Given the description of an element on the screen output the (x, y) to click on. 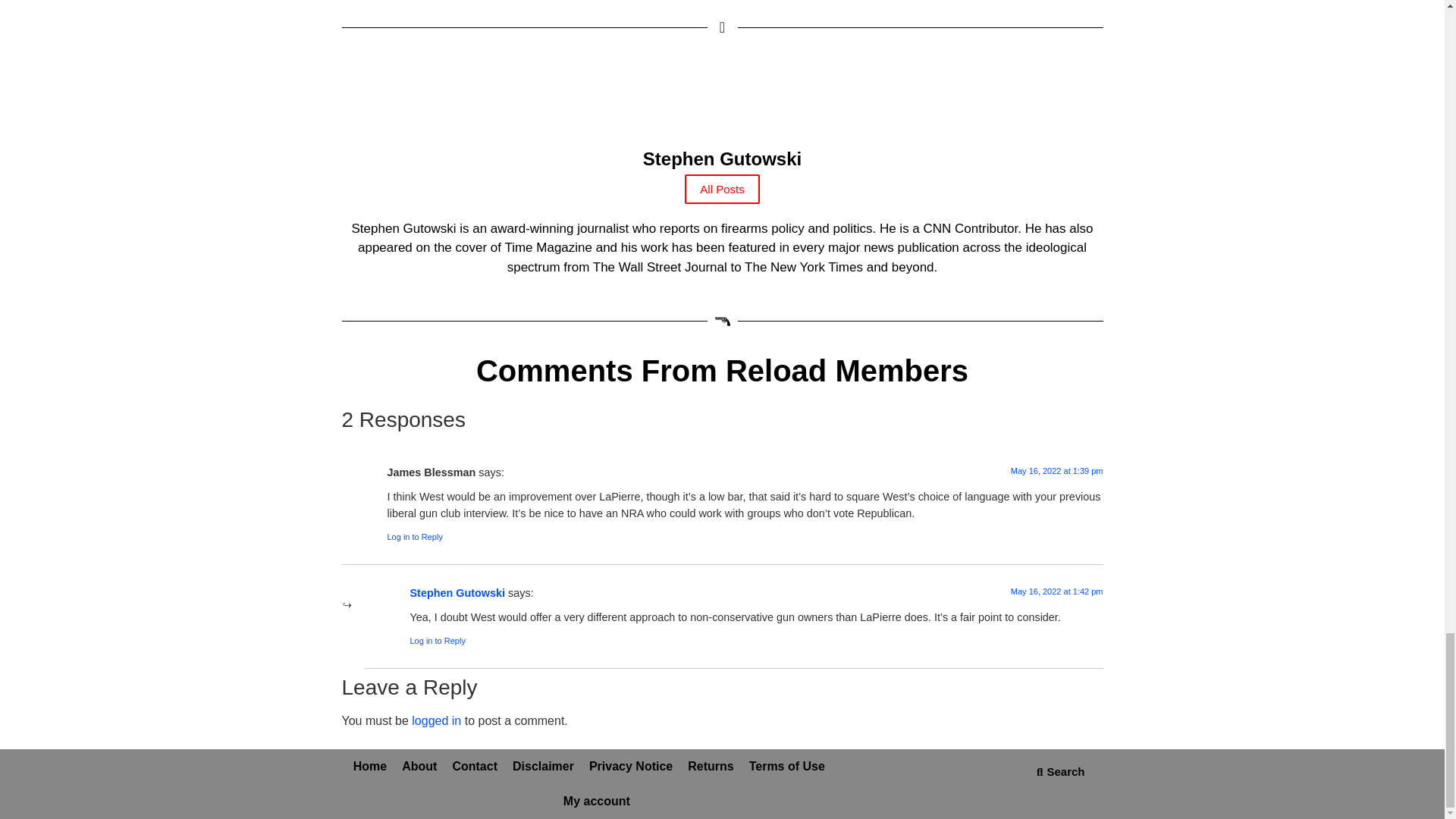
Log in to Reply (436, 640)
Stephen Gutowski (721, 172)
Stephen Gutowski (457, 592)
Log in to Reply (414, 536)
May 16, 2022 at 1:42 pm (1056, 591)
All Posts (721, 188)
May 16, 2022 at 1:39 pm (1056, 470)
